Given the description of an element on the screen output the (x, y) to click on. 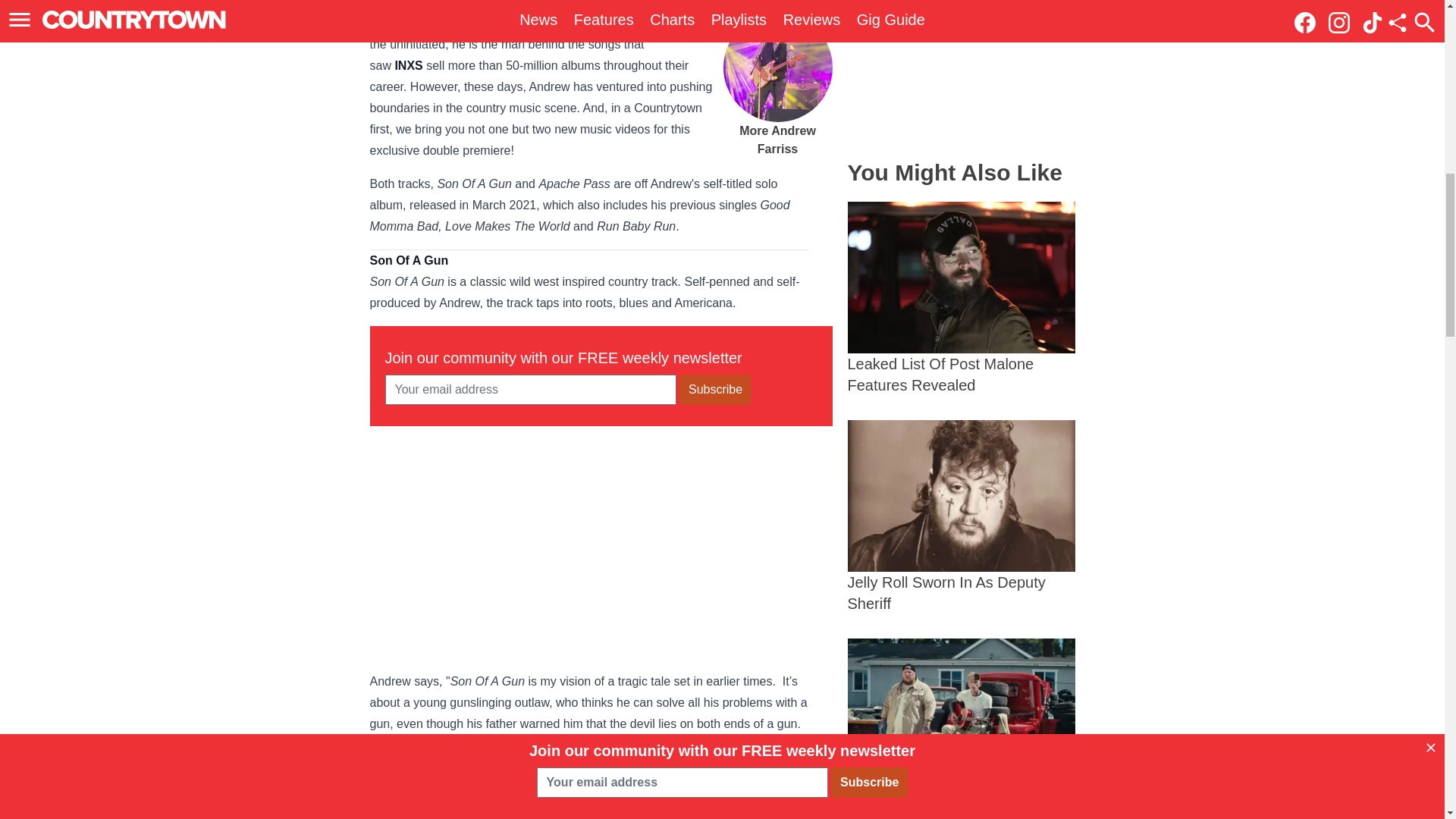
Subscribe (715, 389)
Jelly Roll Teams Up With mgk On 'Lonely Road' (961, 728)
3rd party ad content (600, 546)
Leaked List Of Post Malone Features Revealed (961, 298)
3rd party ad content (961, 72)
Jelly Roll Sworn In As Deputy Sheriff (961, 517)
